Given the description of an element on the screen output the (x, y) to click on. 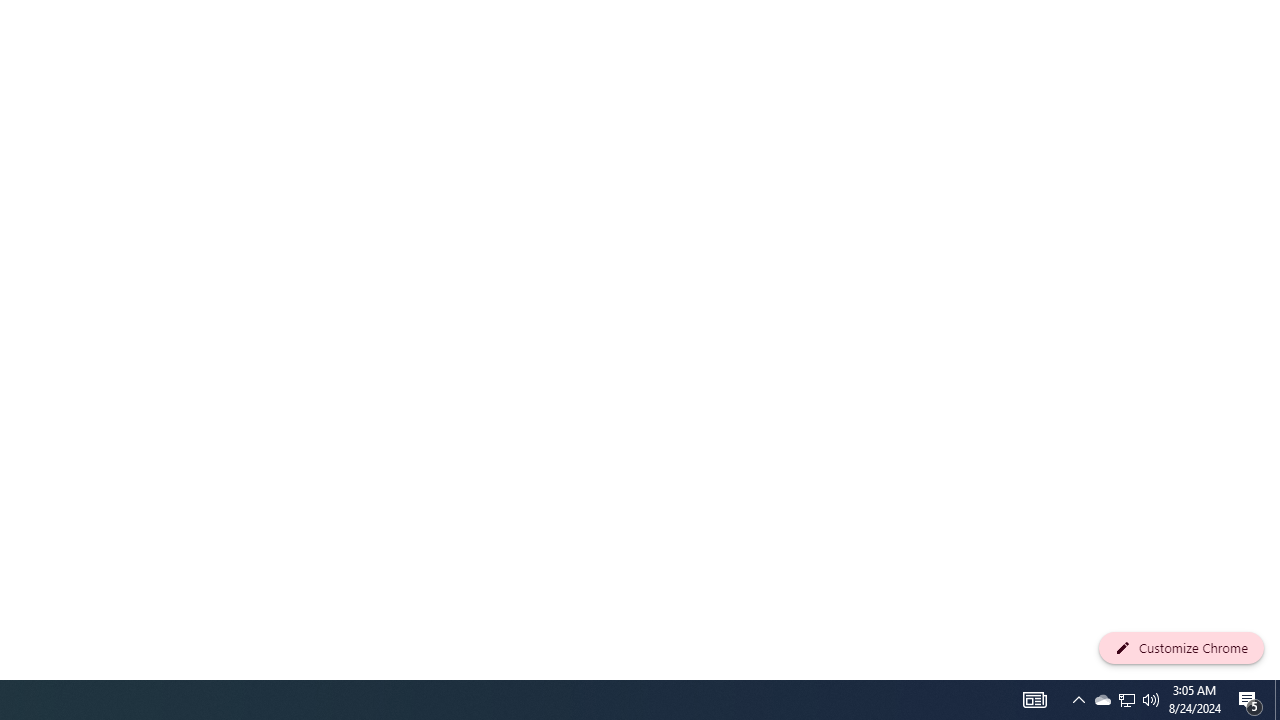
Customize Chrome (1181, 647)
